Given the description of an element on the screen output the (x, y) to click on. 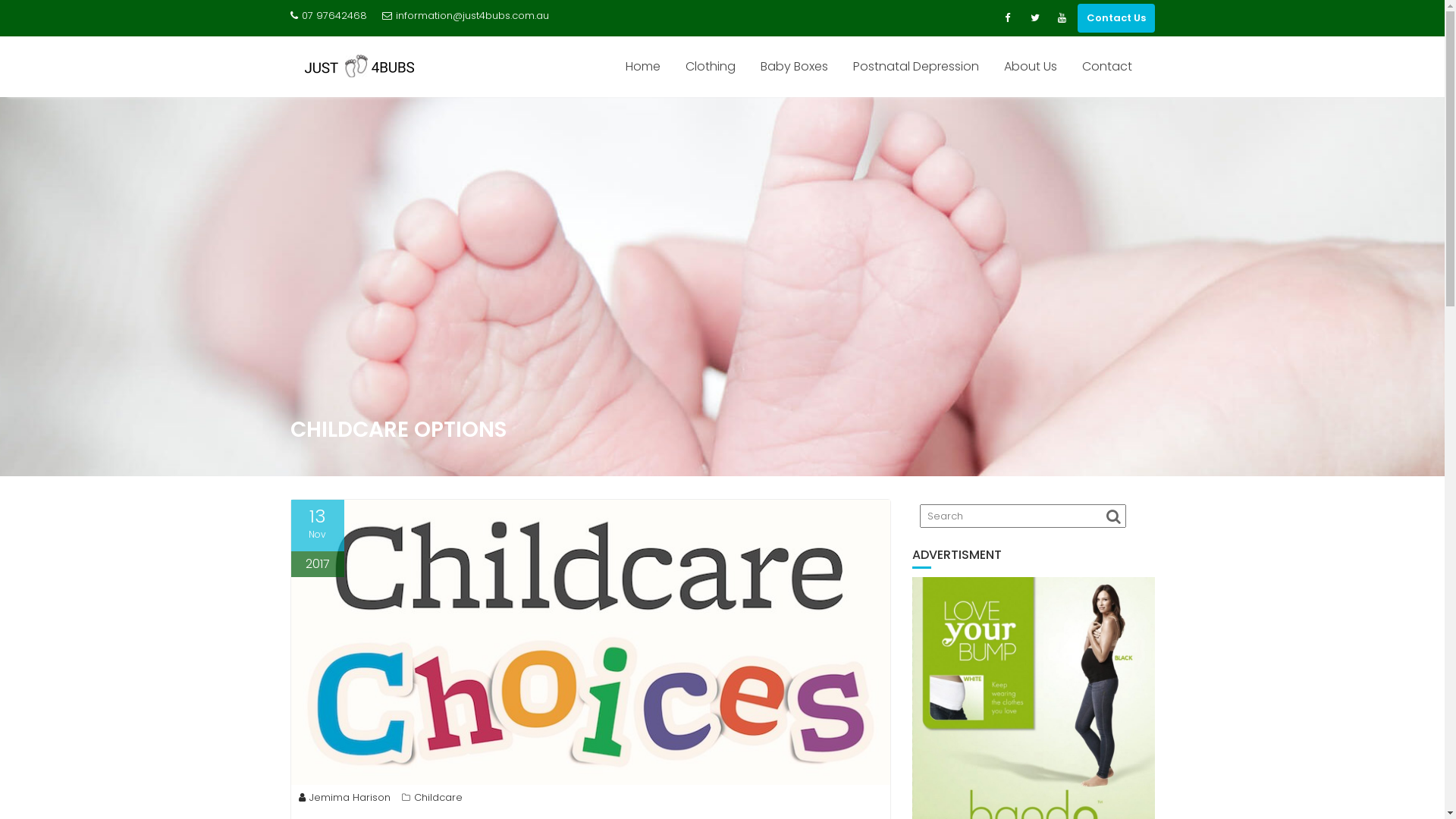
Skip to content Element type: text (0, 97)
Childcare Element type: text (438, 797)
Facebook Element type: hover (1006, 18)
Jemima Harison Element type: text (344, 797)
Twitter Element type: hover (1034, 18)
information@just4bubs.com.au Element type: text (465, 15)
Home Element type: text (642, 66)
Clothing Element type: text (709, 66)
Contact Element type: text (1106, 66)
Contact Us Element type: text (1115, 17)
Youtube Element type: hover (1061, 18)
About Us Element type: text (1029, 66)
Postnatal Depression Element type: text (915, 66)
Baby Boxes Element type: text (794, 66)
